Given the description of an element on the screen output the (x, y) to click on. 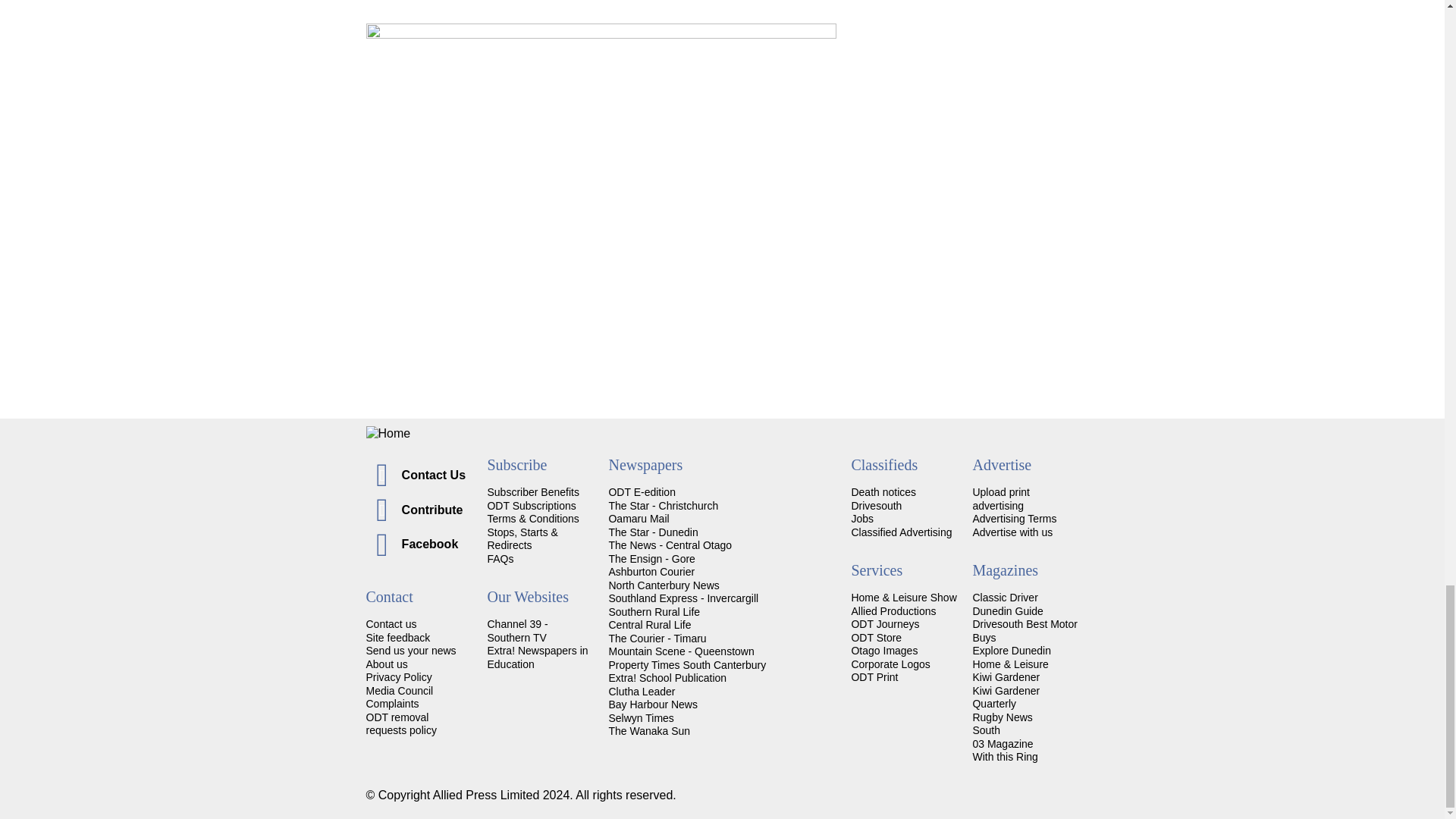
Send us your news and photos. (410, 650)
Get in touch (390, 623)
Home (721, 433)
Get the ODT delivered right to you! (532, 491)
Ways to subscribe to the Otago Daily Times (530, 505)
Let us know what you think (397, 637)
